Given the description of an element on the screen output the (x, y) to click on. 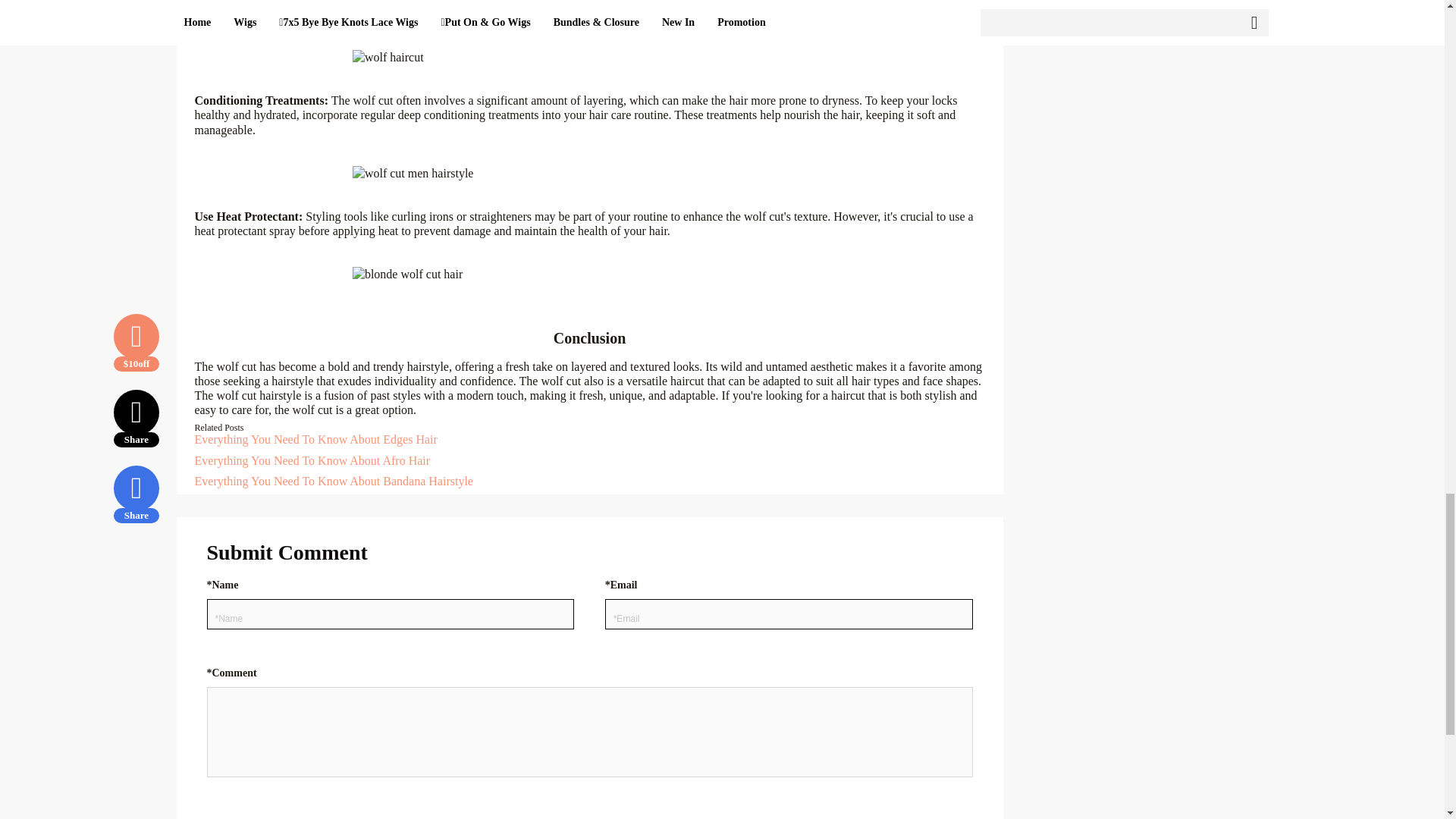
Everything You Need To Know About Edges Hair (314, 439)
Everything You Need To Know About Afro Hair (311, 459)
Everything You Need To Know About Bandana Hairstyle (332, 481)
